Given the description of an element on the screen output the (x, y) to click on. 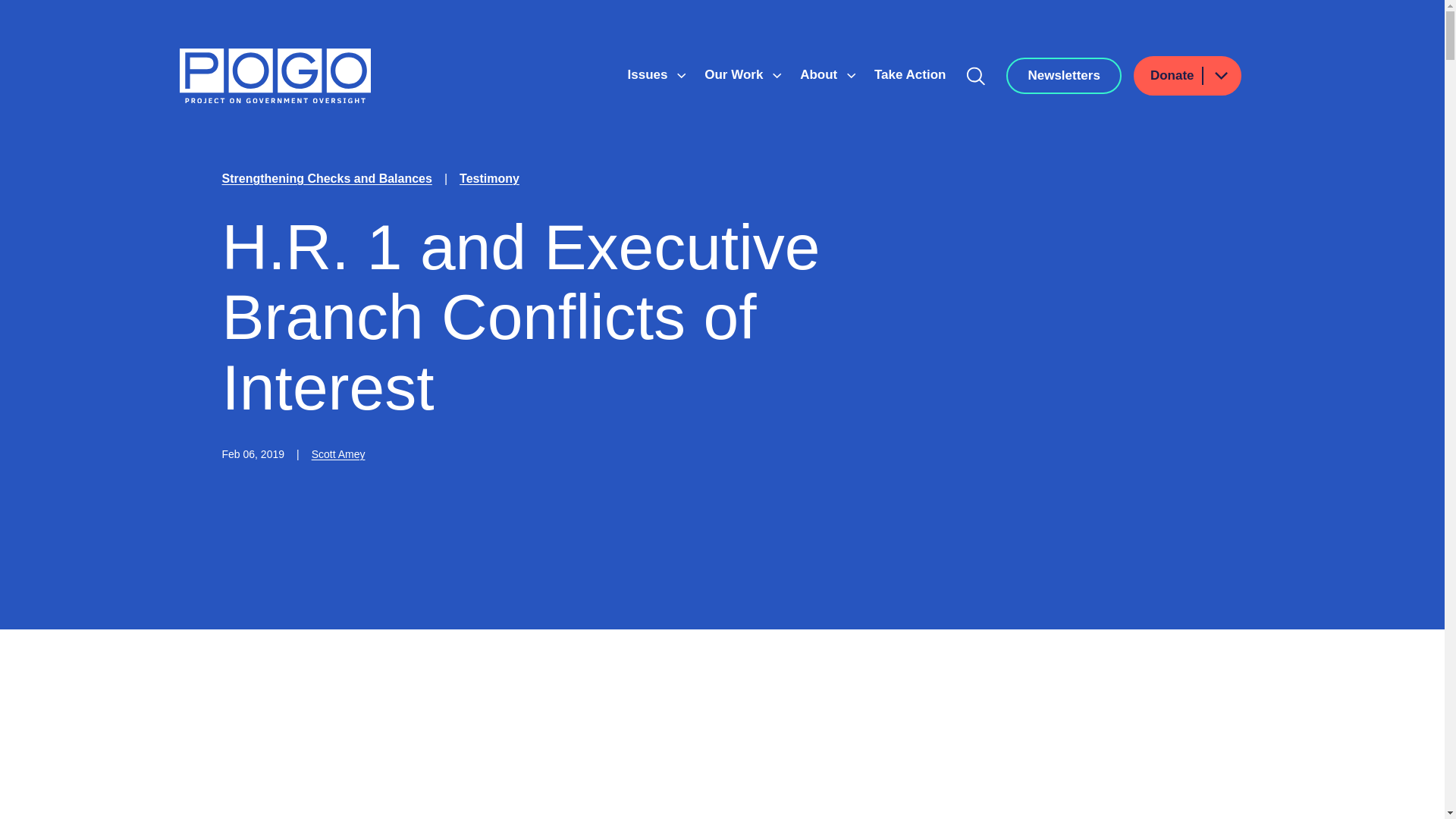
Our Work (735, 74)
Search (976, 75)
Take Action (909, 74)
About (820, 74)
Show submenu for Our Work (777, 75)
Show submenu for Issues (681, 75)
Show submenu for About (851, 75)
Issues (649, 74)
Newsletters (1063, 75)
Home (274, 75)
